Given the description of an element on the screen output the (x, y) to click on. 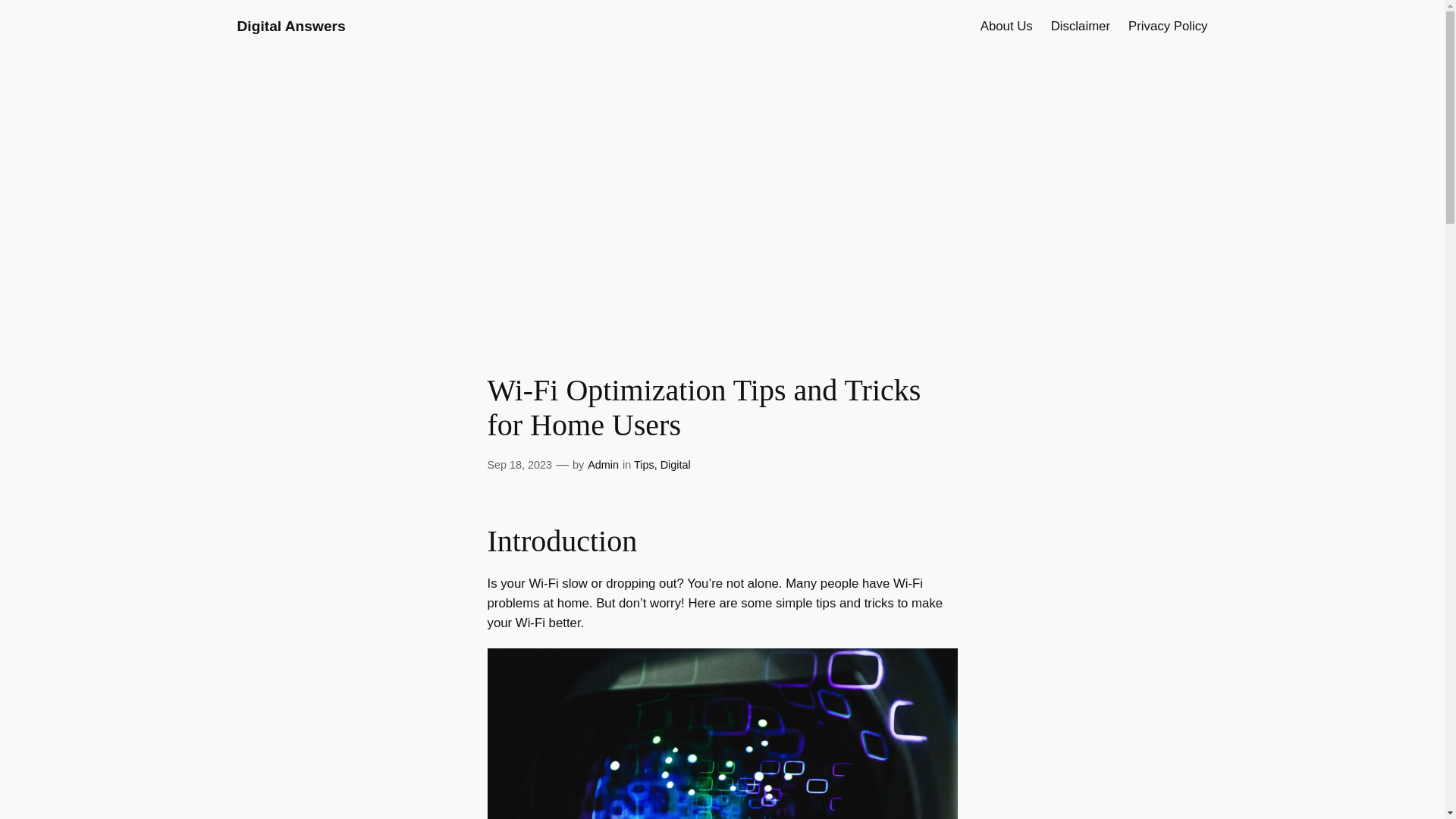
Disclaimer (1080, 26)
Admin (603, 464)
Digital Answers (290, 26)
Tips, Digital (661, 464)
Privacy Policy (1167, 26)
Sep 18, 2023 (518, 464)
About Us (1005, 26)
